Given the description of an element on the screen output the (x, y) to click on. 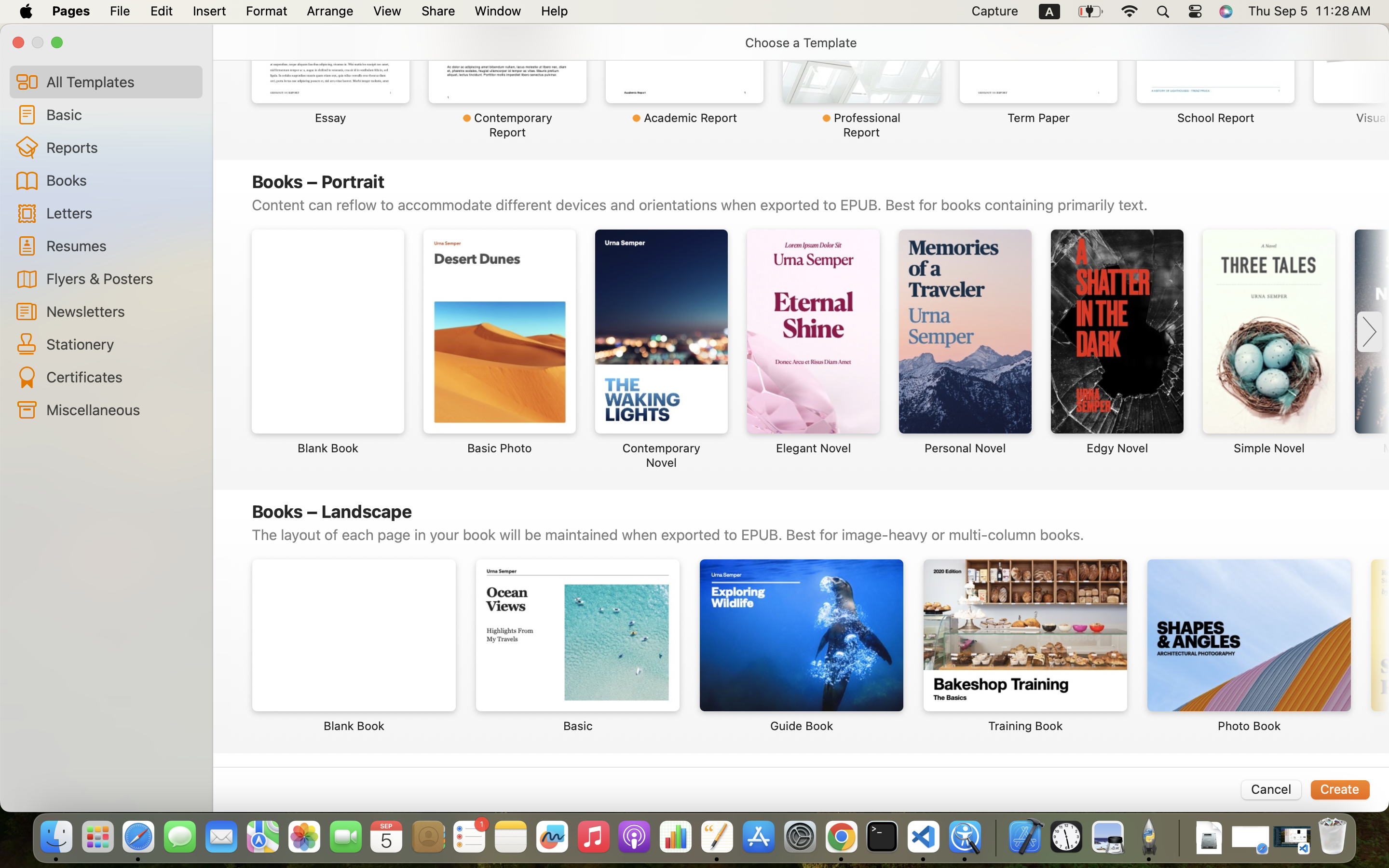
Basic Element type: AXStaticText (120, 114)
Certificates Element type: AXStaticText (120, 376)
Choose a Template Element type: AXStaticText (800, 42)
